Given the description of an element on the screen output the (x, y) to click on. 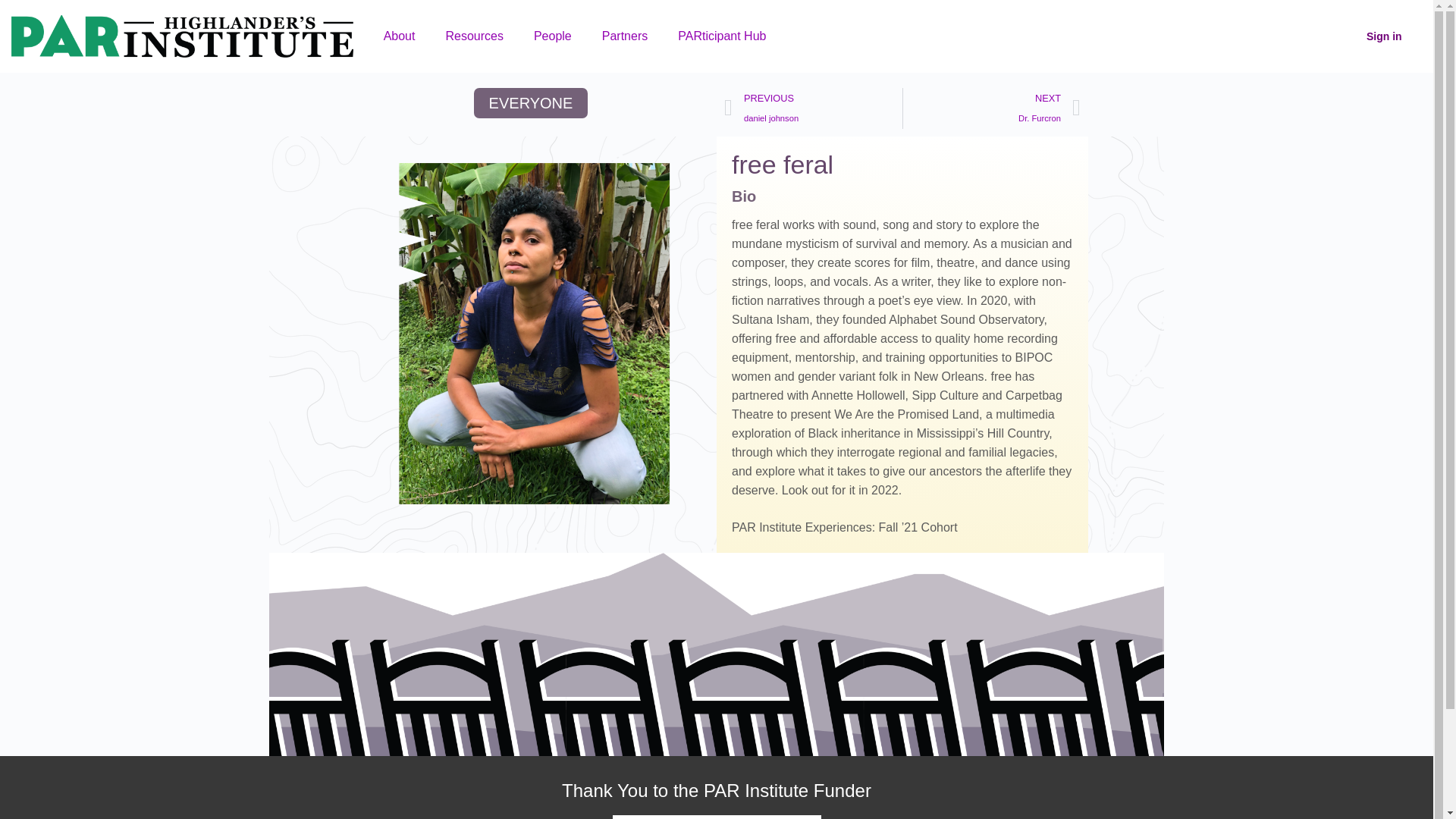
About (399, 36)
People (991, 107)
PARticipant Hub (552, 36)
EVERYONE (721, 36)
Partners (531, 102)
Sign in (812, 107)
Resources (624, 36)
